Given the description of an element on the screen output the (x, y) to click on. 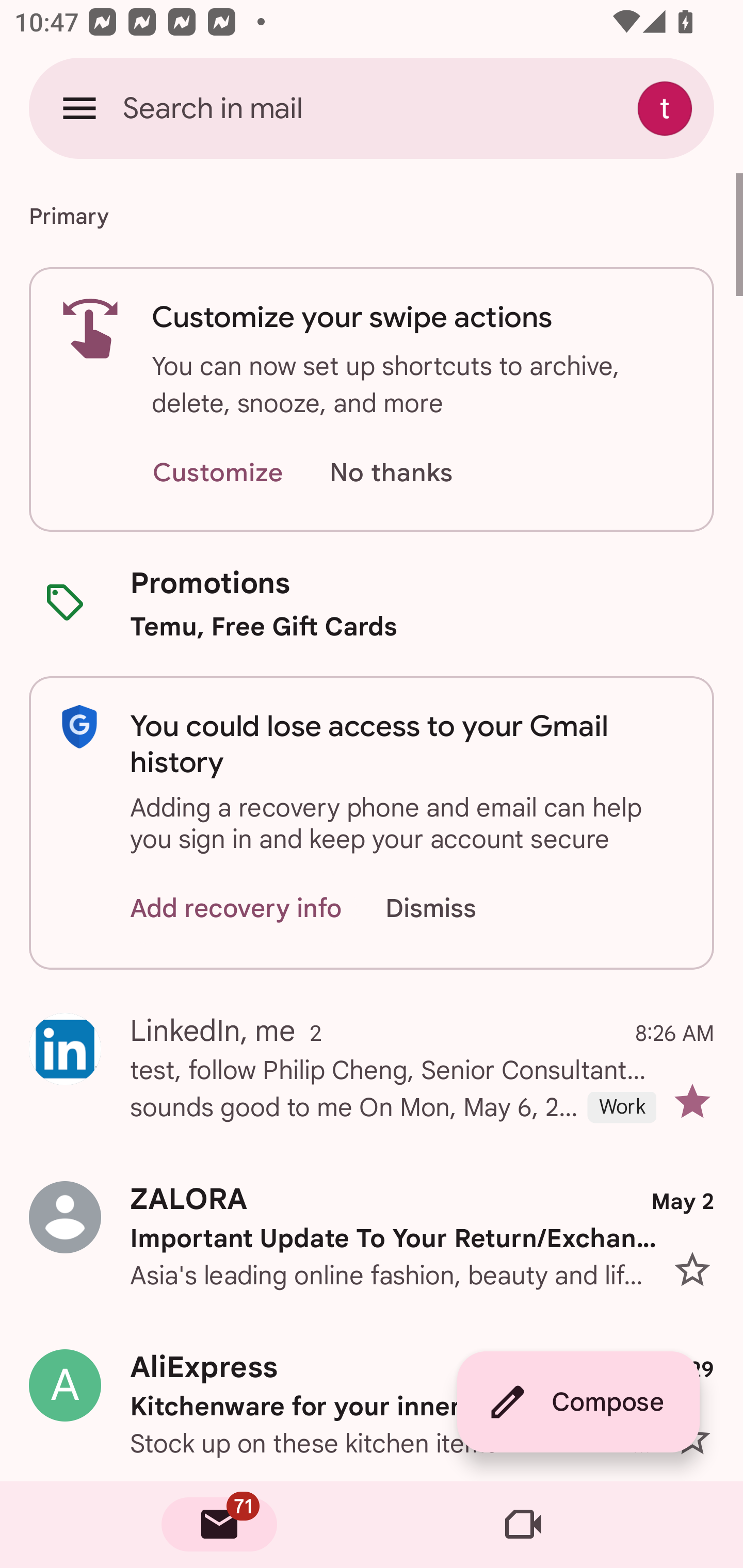
Open navigation drawer (79, 108)
Customize (217, 473)
No thanks (390, 473)
Promotions Temu, Free Gift Cards (371, 603)
Add recovery info (235, 908)
Dismiss (449, 908)
Compose (577, 1401)
Meet (523, 1524)
